Given the description of an element on the screen output the (x, y) to click on. 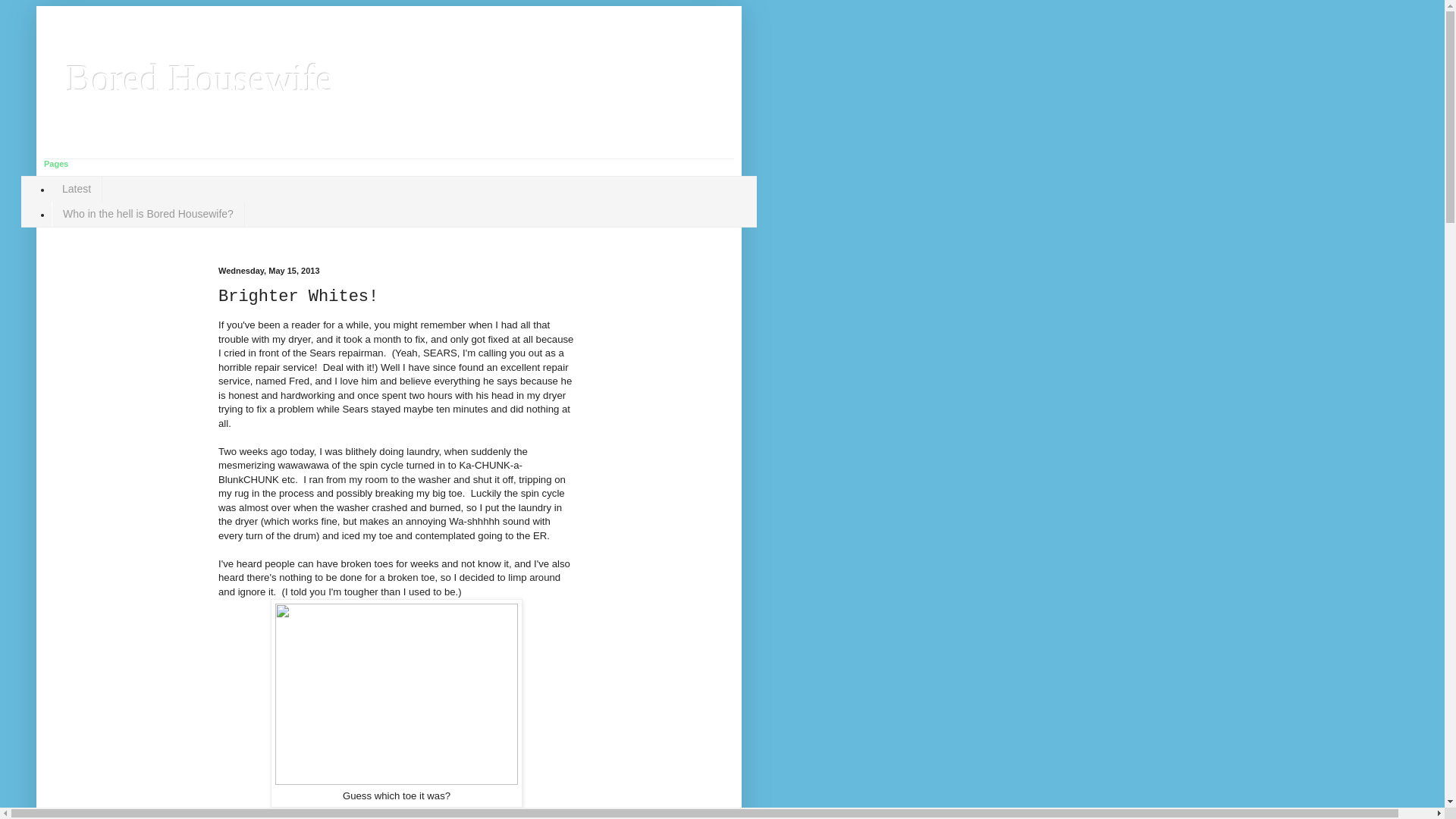
Latest (75, 188)
Bored Housewife (199, 77)
Who in the hell is Bored Housewife? (147, 213)
